Given the description of an element on the screen output the (x, y) to click on. 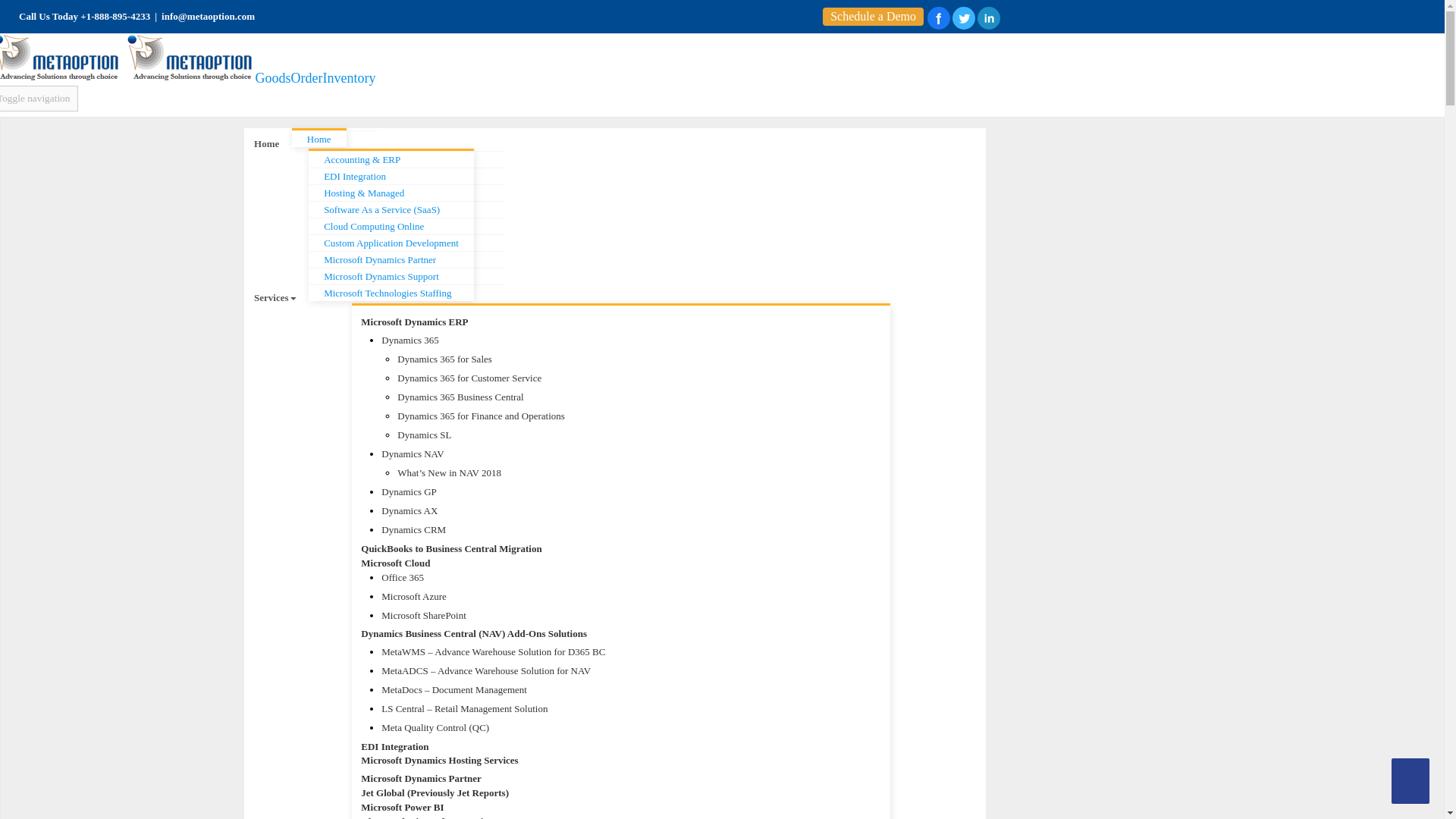
Office 365 (630, 577)
Home (334, 138)
Facebook (938, 17)
Dynamics CRM (630, 529)
Dynamics NAV (630, 453)
Dynamics GP (630, 491)
Services (274, 297)
QuickBooks to Business Central Migration (610, 548)
LinkedIn (988, 17)
Cloud Computing Online (405, 225)
Dynamics 365 Business Central (615, 396)
EDI Integration (405, 175)
GoodsOrderInventory (189, 77)
Dynamics SL (615, 434)
Dynamics 365 for Customer Service (615, 377)
